Given the description of an element on the screen output the (x, y) to click on. 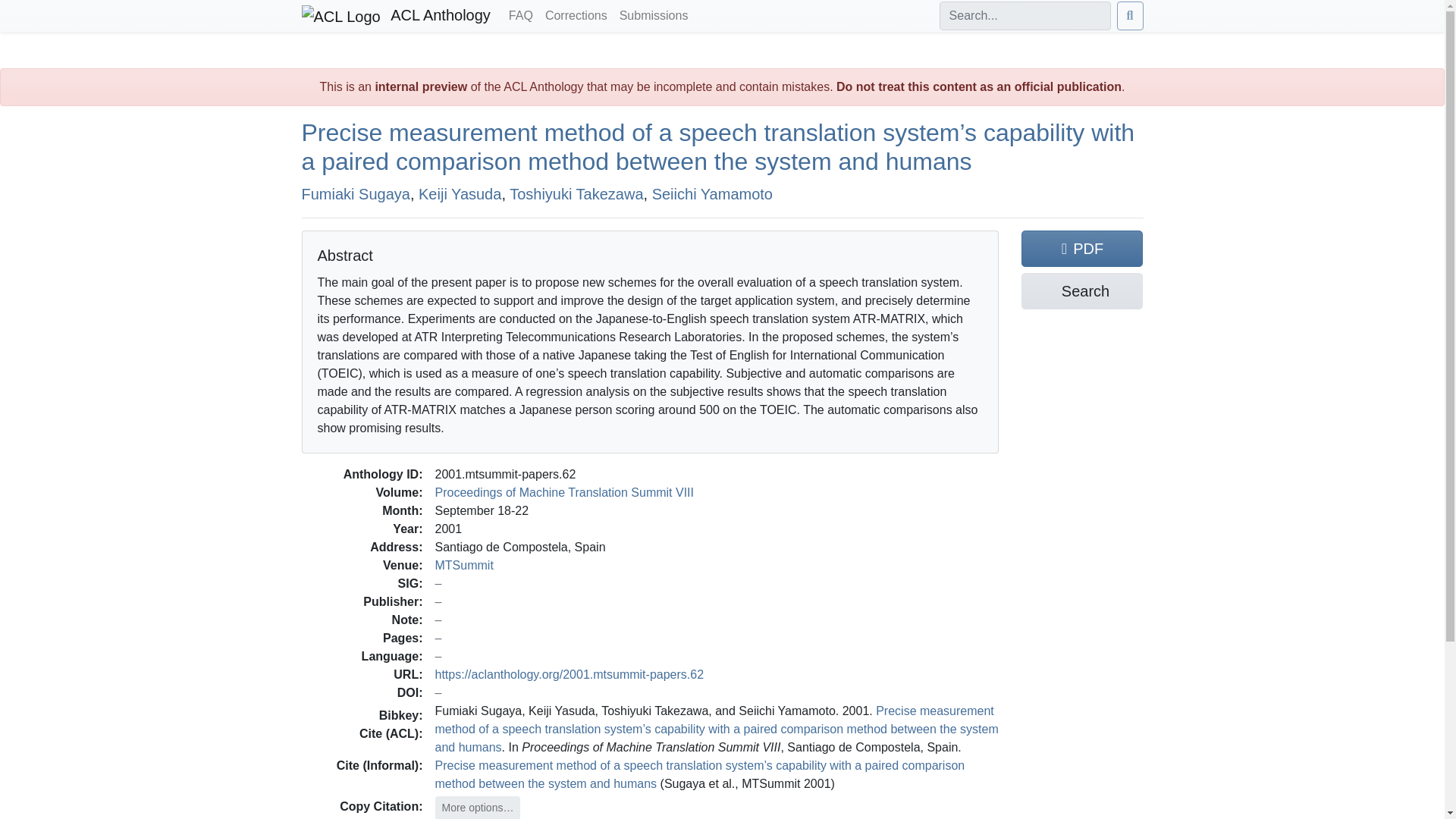
Search (1082, 290)
Fumiaki Sugaya (355, 193)
ACL Anthology (395, 15)
MTSummit (464, 563)
Proceedings of Machine Translation Summit VIII (564, 491)
Seiichi Yamamoto (712, 193)
Keiji Yasuda (459, 193)
PDF (1082, 248)
Toshiyuki Takezawa (576, 193)
